Given the description of an element on the screen output the (x, y) to click on. 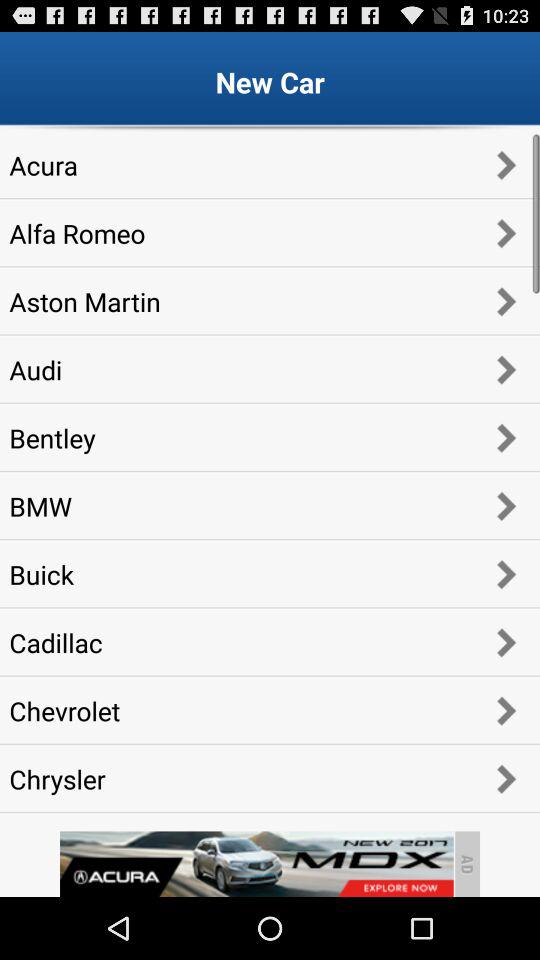
go back (256, 864)
